Given the description of an element on the screen output the (x, y) to click on. 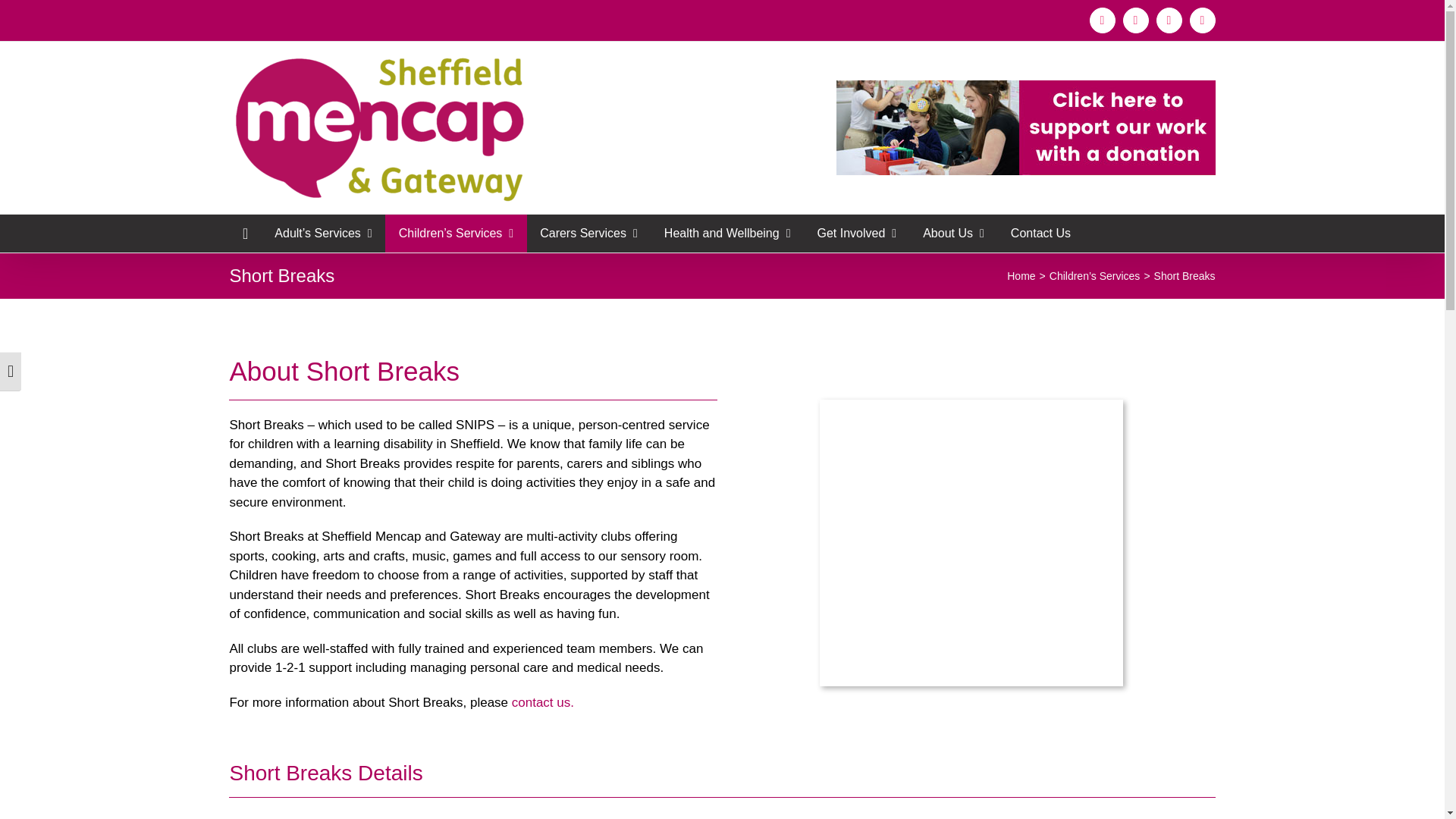
LinkedIn (1135, 20)
Carers Services (588, 233)
Facebook (1102, 20)
Twitter (1168, 20)
About Us (953, 233)
Instagram (1201, 20)
Get Involved (856, 233)
Health and Wellbeing (726, 233)
